Given the description of an element on the screen output the (x, y) to click on. 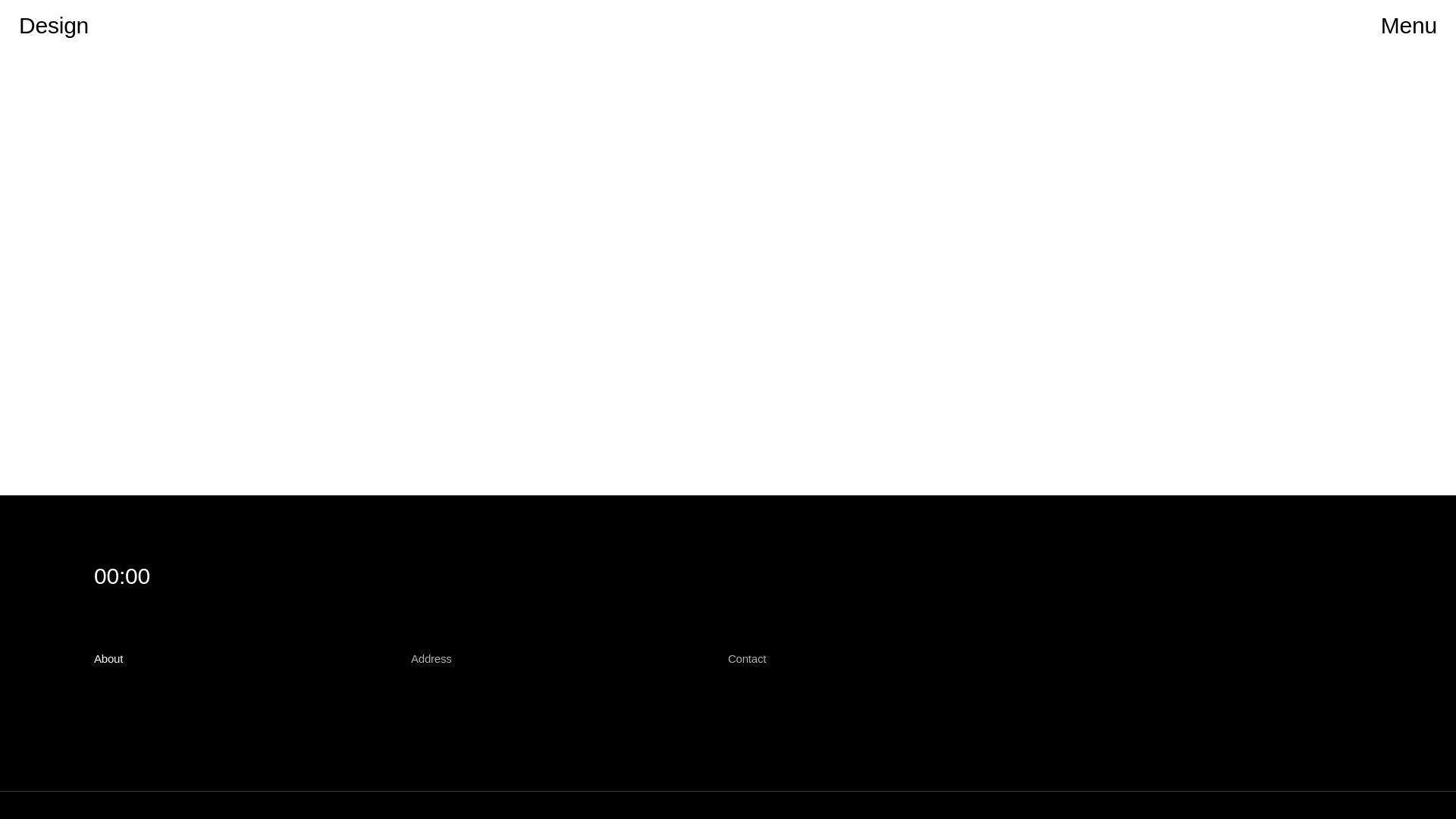
About (108, 658)
